Given the description of an element on the screen output the (x, y) to click on. 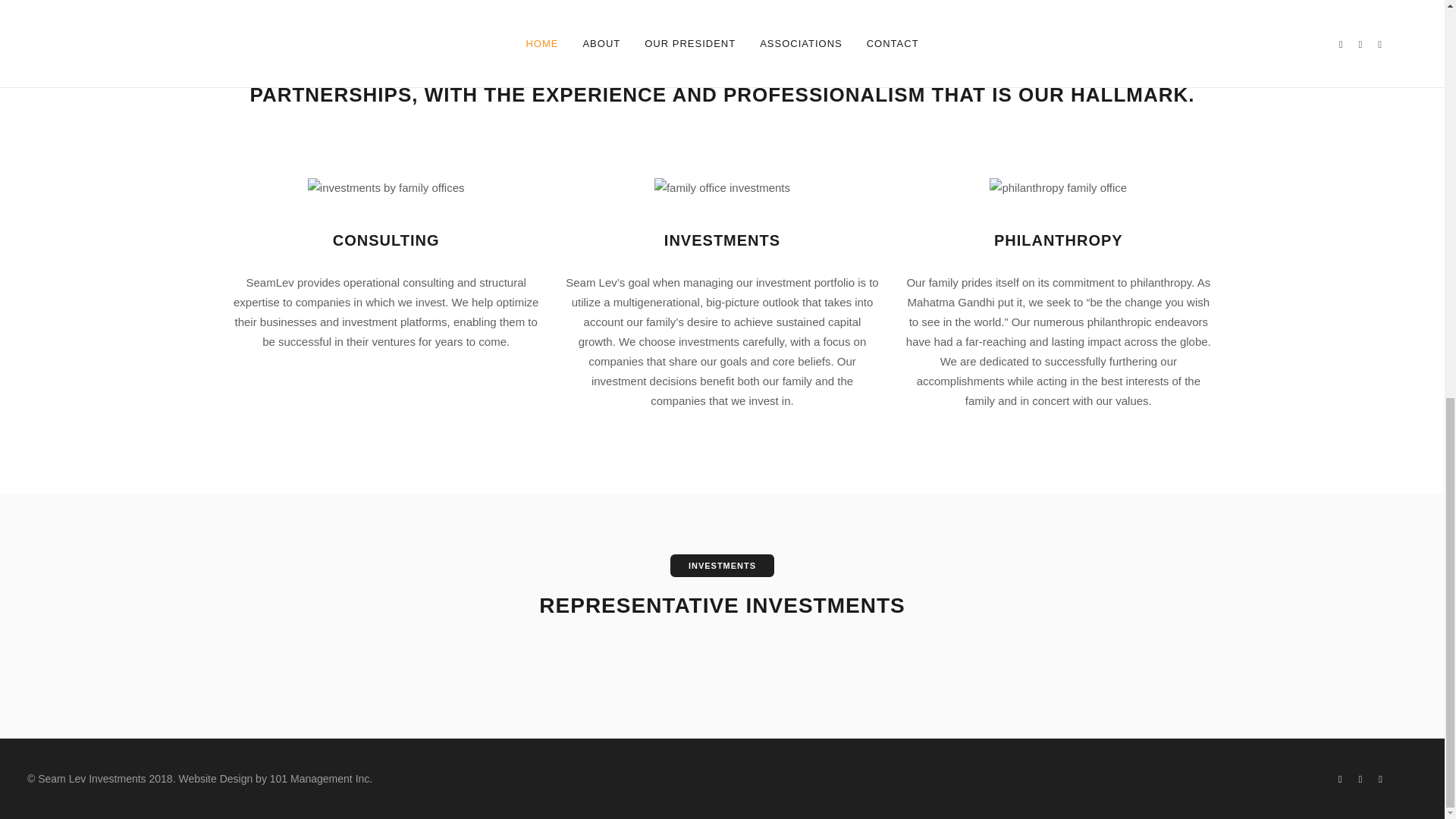
family office investment (721, 188)
Website Design by 101 Management Inc. (274, 778)
investments by family offices (385, 188)
philanthropy family office (1058, 188)
